Given the description of an element on the screen output the (x, y) to click on. 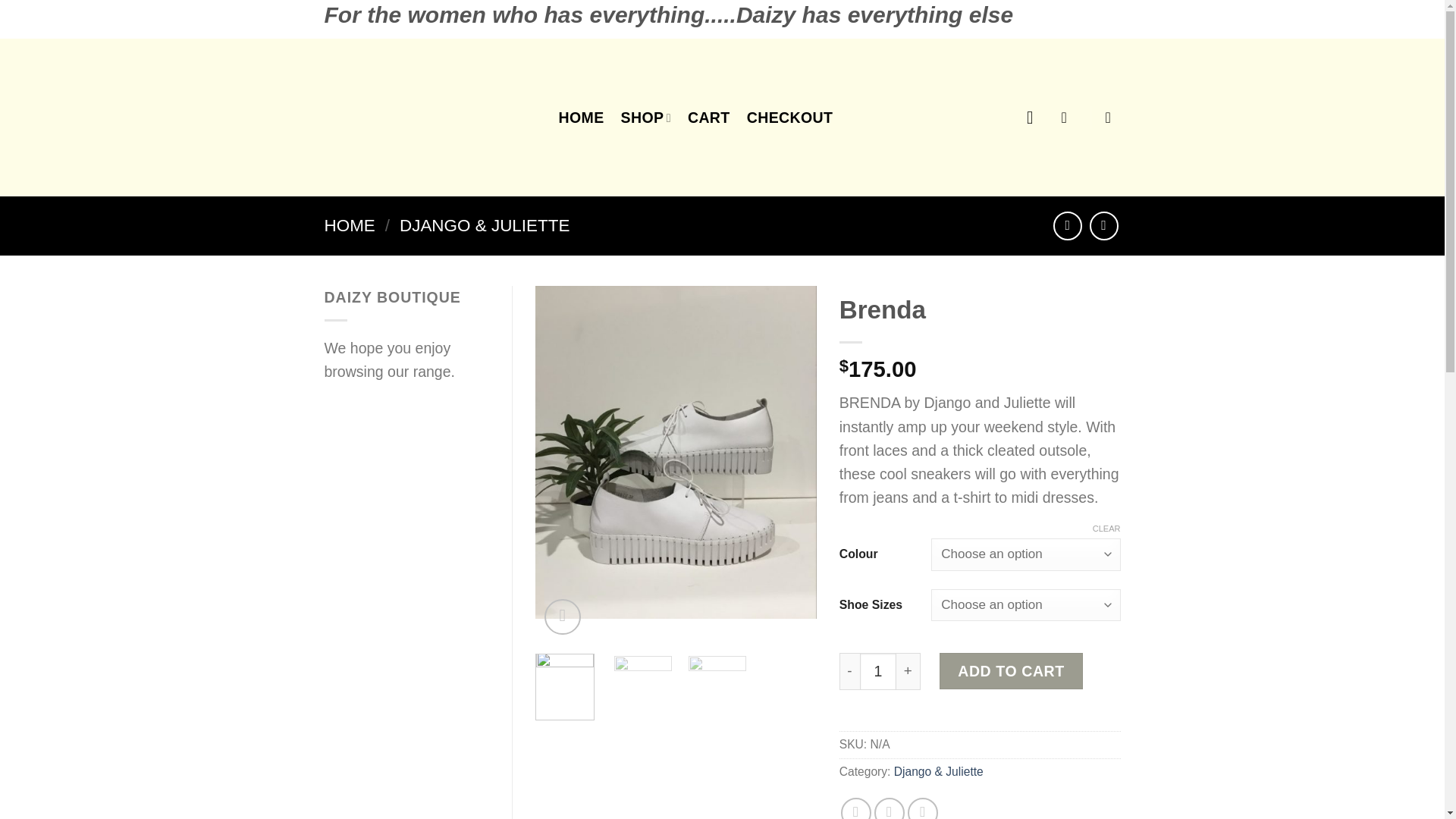
Daizy Boutique (429, 117)
Zoom (561, 616)
Pin on Pinterest (922, 808)
CART (708, 117)
CHECKOUT (789, 117)
Qty (878, 671)
HOME (349, 225)
HOME (580, 117)
Email to a Friend (889, 808)
1 (878, 671)
